Given the description of an element on the screen output the (x, y) to click on. 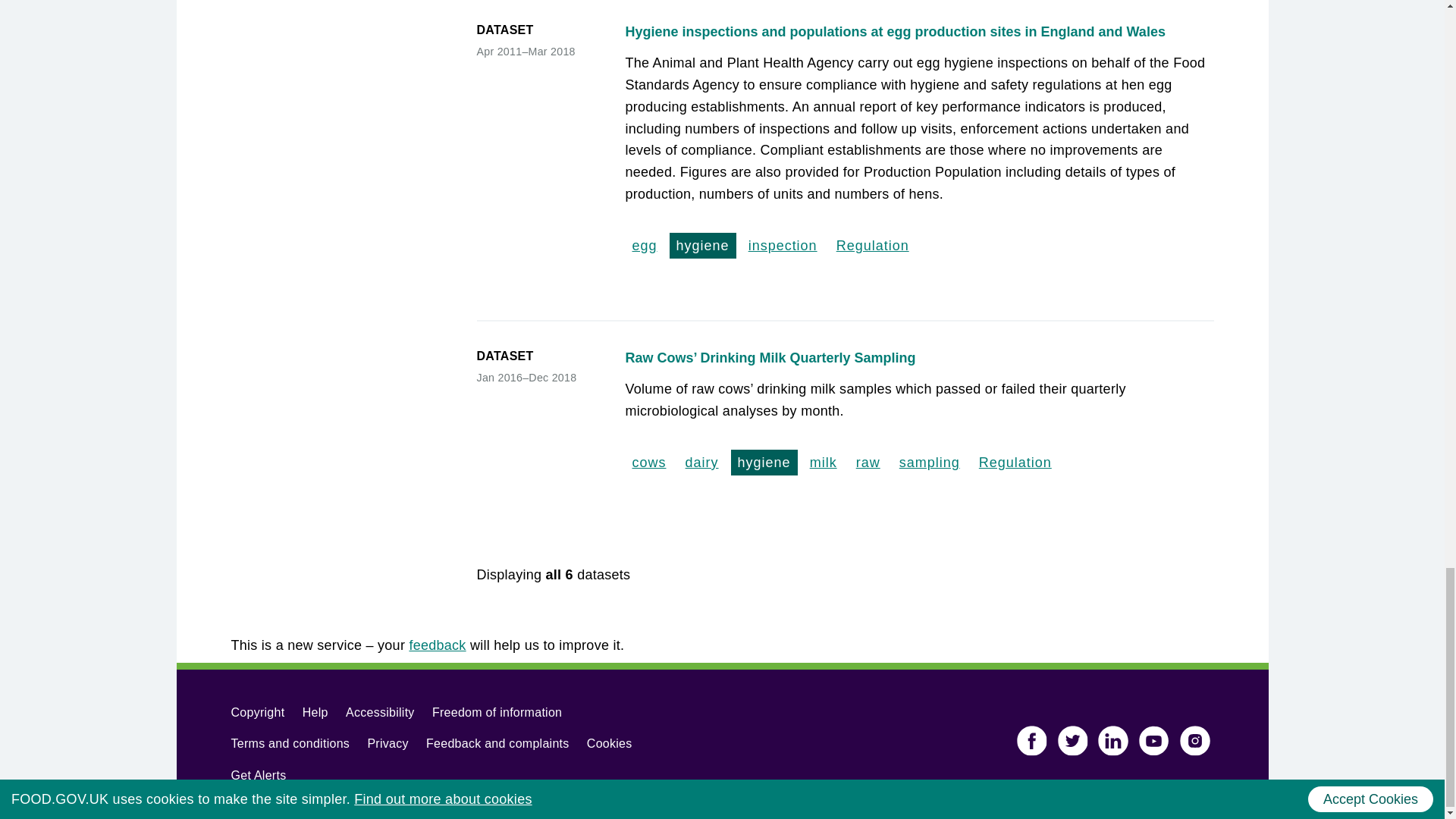
cows (648, 462)
Regulation (1015, 462)
milk (823, 462)
raw (867, 462)
dairy (701, 462)
Regulation (872, 245)
inspection (782, 245)
egg (643, 245)
sampling (929, 462)
